Given the description of an element on the screen output the (x, y) to click on. 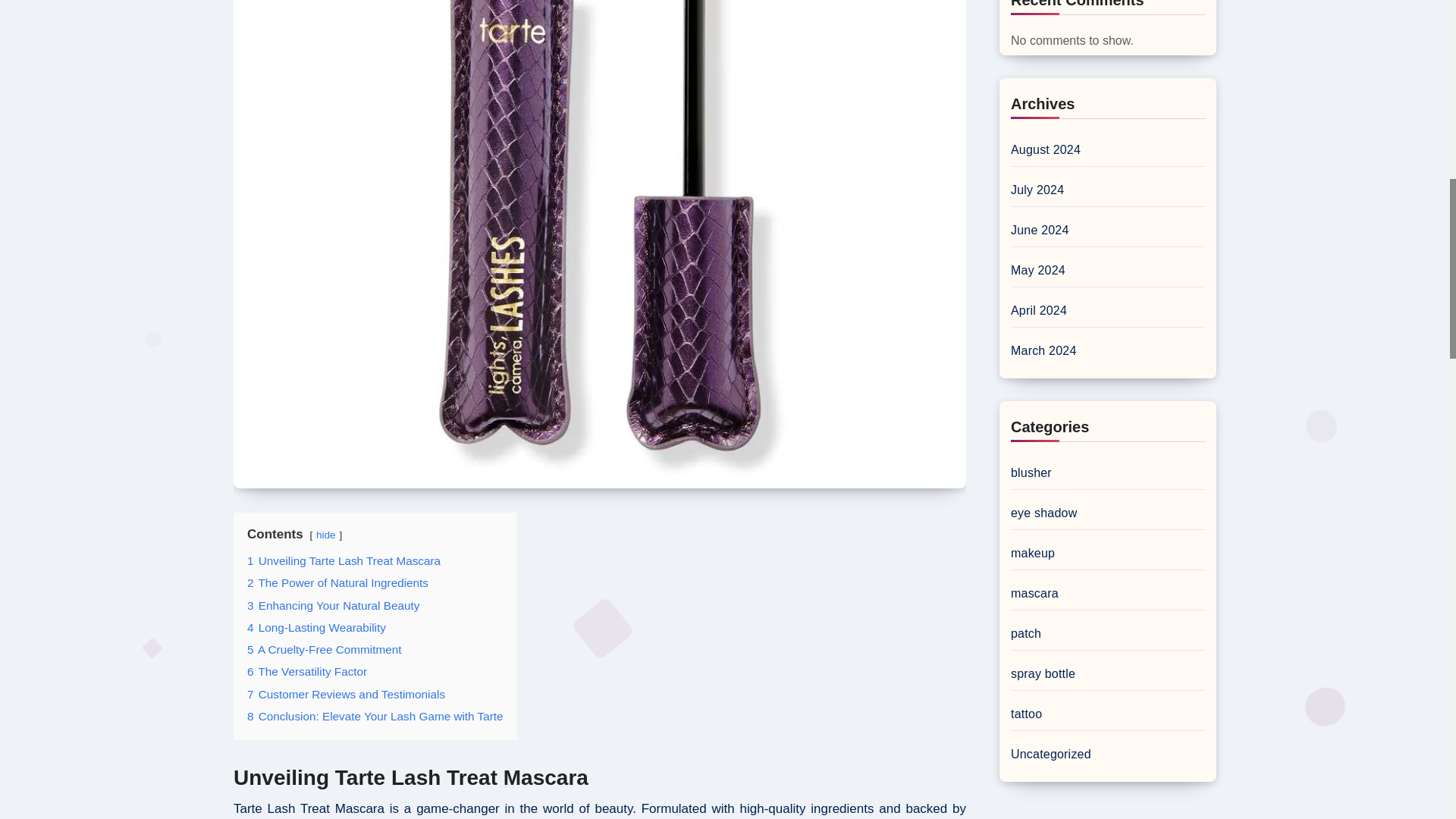
5 A Cruelty-Free Commitment (324, 649)
8 Conclusion: Elevate Your Lash Game with Tarte (375, 716)
6 The Versatility Factor (306, 671)
2 The Power of Natural Ingredients (337, 582)
4 Long-Lasting Wearability (316, 626)
1 Unveiling Tarte Lash Treat Mascara (344, 560)
7 Customer Reviews and Testimonials (346, 694)
3 Enhancing Your Natural Beauty (333, 604)
hide (325, 534)
